Given the description of an element on the screen output the (x, y) to click on. 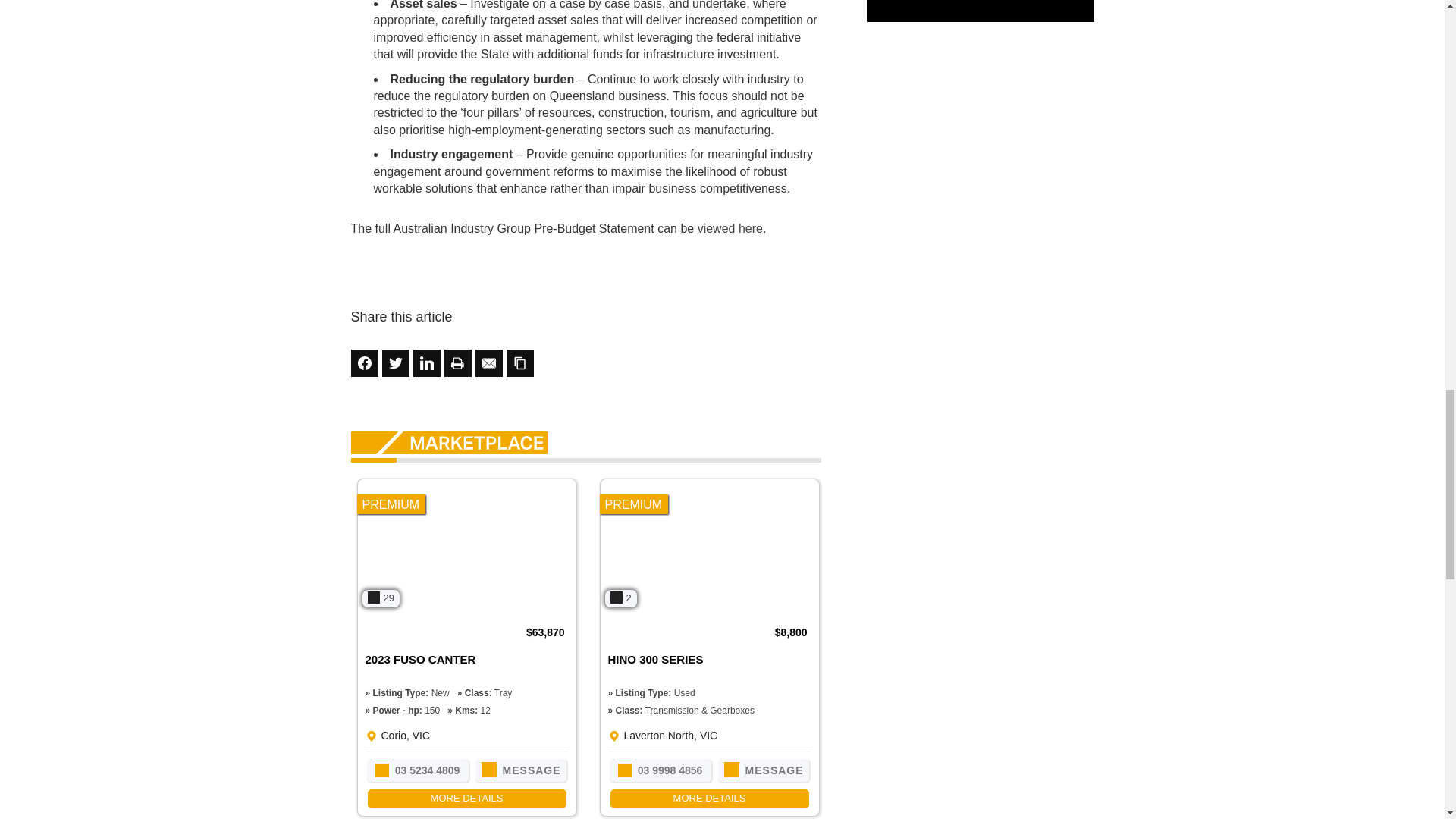
Share on LinkedIn (425, 362)
Share on Facebook (363, 362)
Share on Copy Link (520, 362)
Share on Email (488, 362)
Share on Twitter (395, 362)
Share on Print (457, 362)
